Given the description of an element on the screen output the (x, y) to click on. 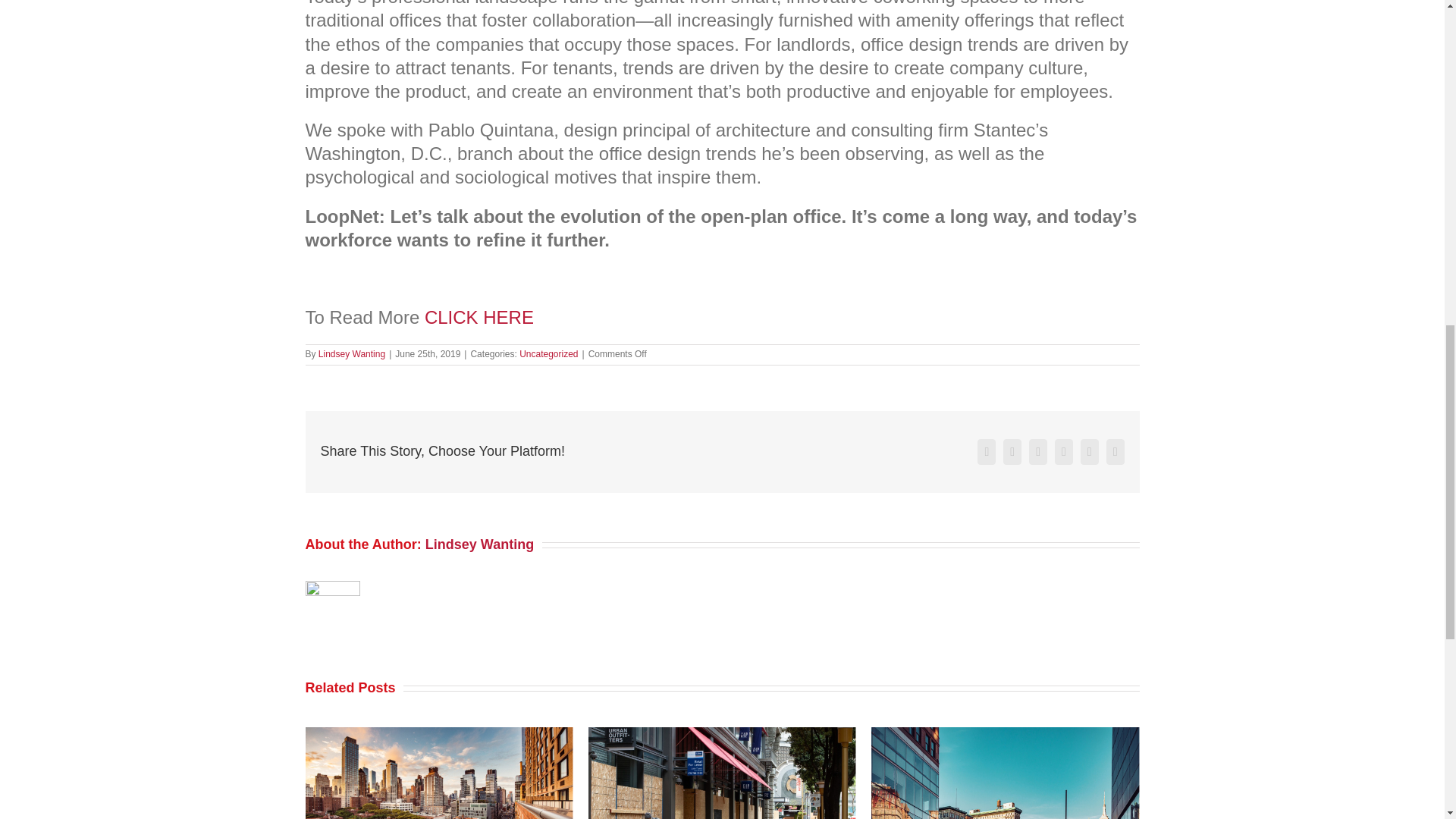
Lindsey Wanting (351, 353)
Posts by Lindsey Wanting (479, 544)
Uncategorized (548, 353)
Lindsey Wanting (479, 544)
CLICK HERE (479, 317)
Posts by Lindsey Wanting (351, 353)
